Given the description of an element on the screen output the (x, y) to click on. 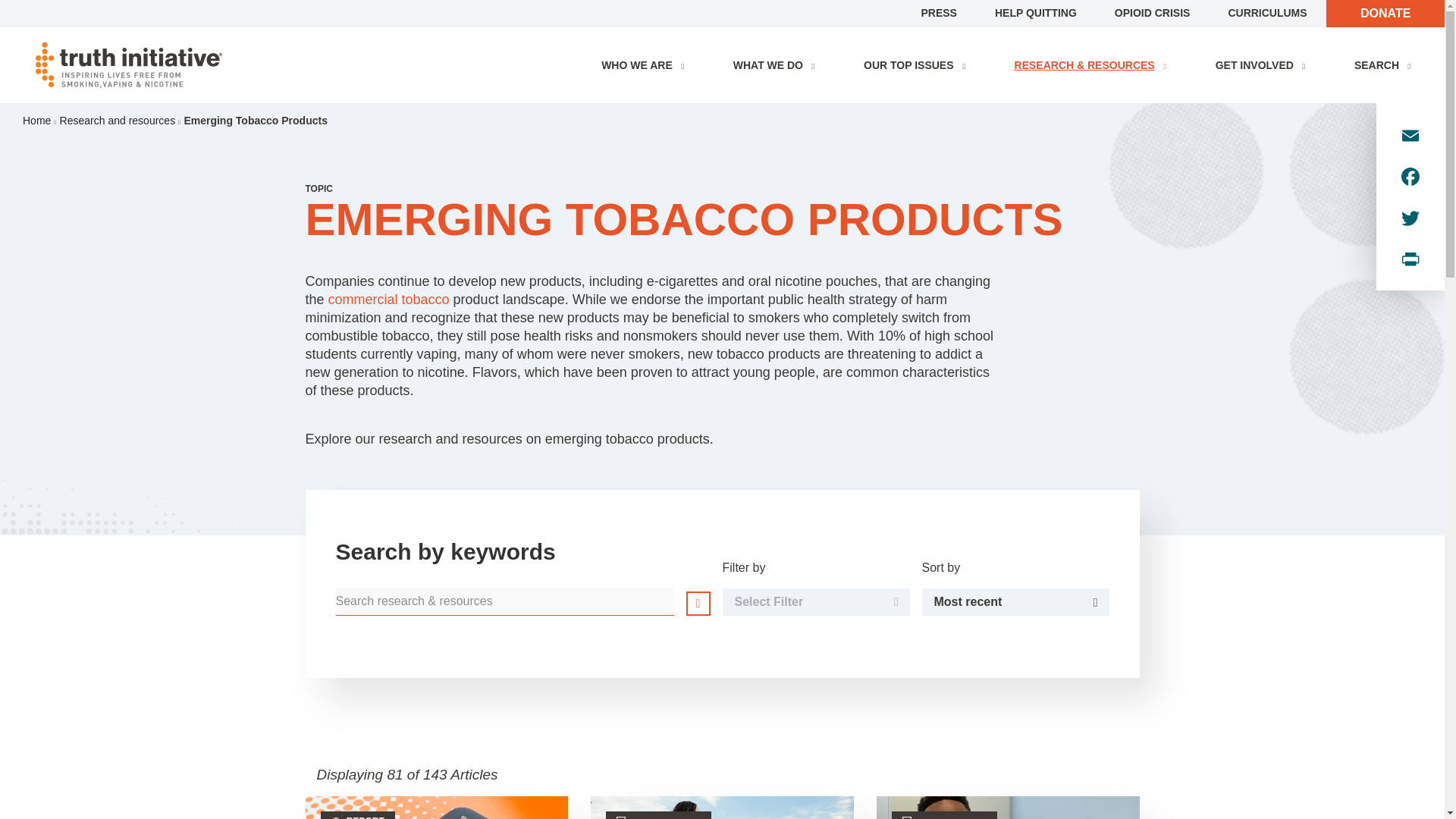
PRESS (938, 12)
OUR TOP ISSUES (918, 64)
WHAT WE DO (777, 64)
WHO WE ARE (646, 64)
OPIOID CRISIS (1153, 12)
SEARCH (1385, 64)
CURRICULUMS (1266, 12)
HELP QUITTING (1035, 12)
DONATE (1384, 13)
GET INVOLVED (1263, 64)
